Given the description of an element on the screen output the (x, y) to click on. 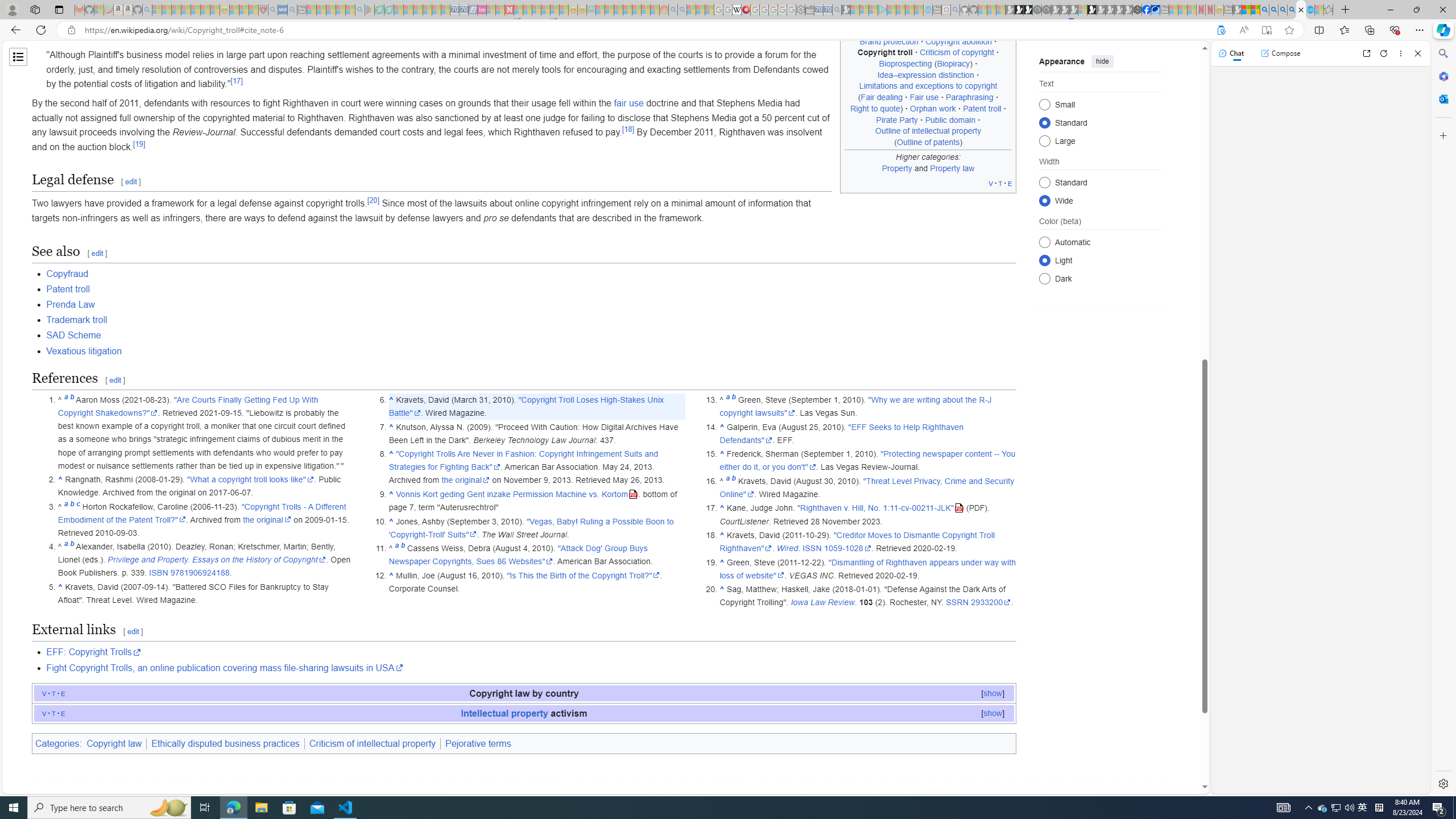
"Is This the Birth of the Copyright Troll?" (583, 574)
AirNow.gov (1154, 9)
Refresh (1383, 53)
Kinda Frugal - MSN - Sleeping (636, 9)
Close Outlook pane (1442, 98)
Outline of patents (927, 141)
Compose (1280, 52)
